Given the description of an element on the screen output the (x, y) to click on. 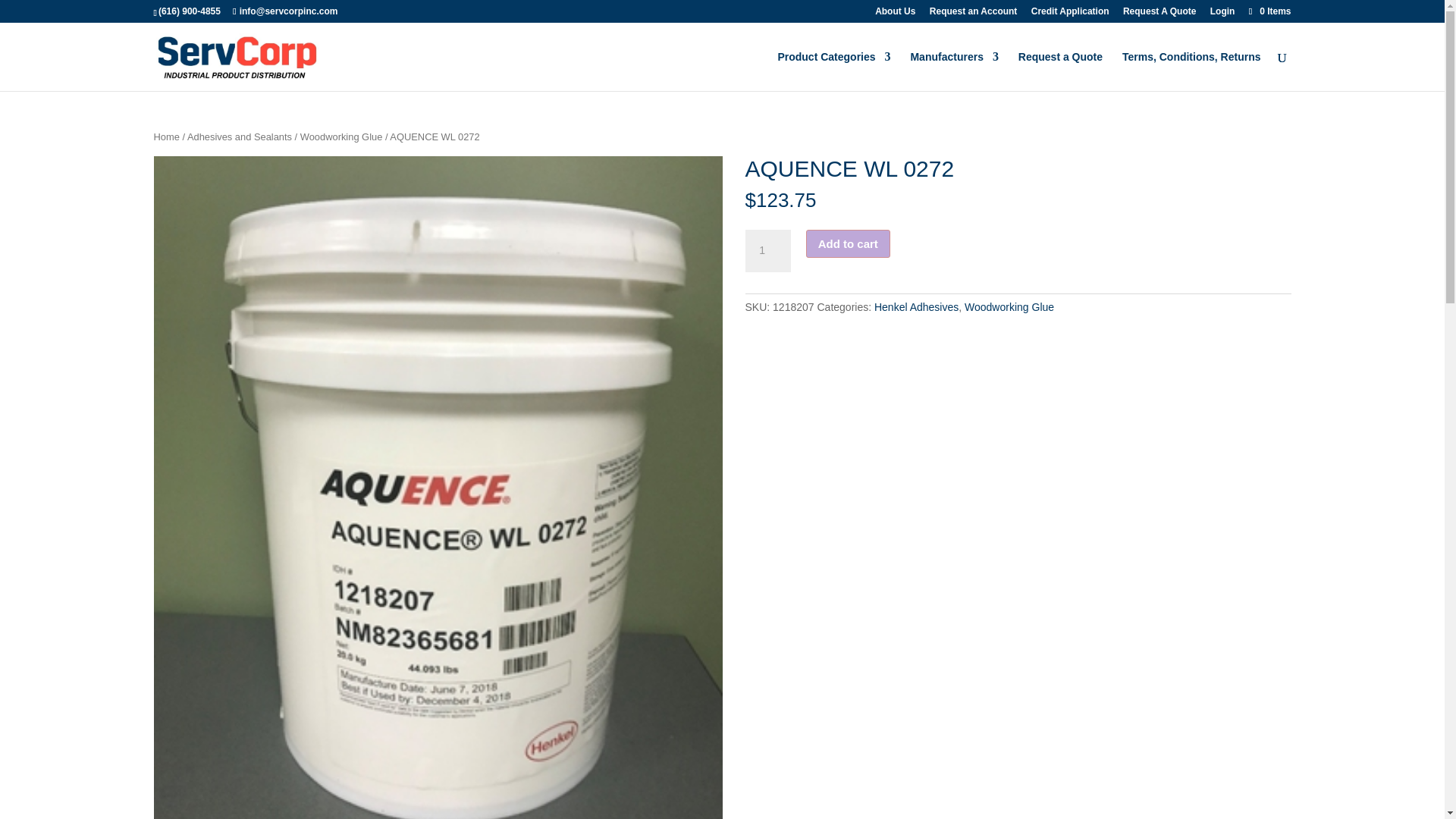
Credit Application (1069, 14)
0 Items (1268, 10)
Terms, Conditions, Returns (1191, 70)
1 (767, 250)
Product Categories (833, 70)
Manufacturers (953, 70)
About Us (895, 14)
Request a Quote (1059, 70)
Request A Quote (1158, 14)
Login (1221, 14)
